Given the description of an element on the screen output the (x, y) to click on. 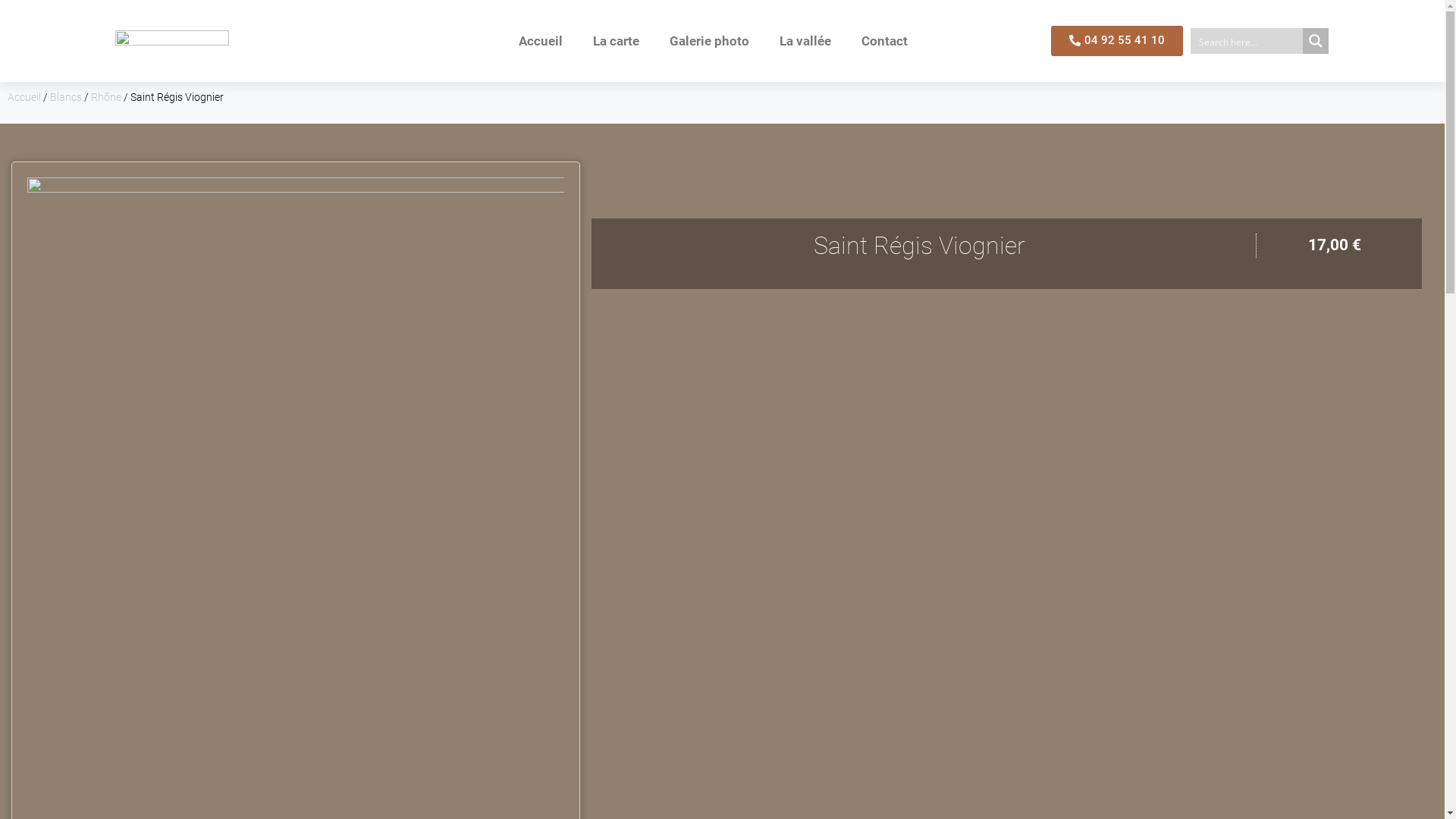
Galerie photo Element type: text (709, 40)
Accueil Element type: text (540, 40)
Contact Element type: text (884, 40)
La carte Element type: text (615, 40)
Accueil Element type: text (23, 97)
Blancs Element type: text (65, 97)
04 92 55 41 10 Element type: text (1117, 40)
